Given the description of an element on the screen output the (x, y) to click on. 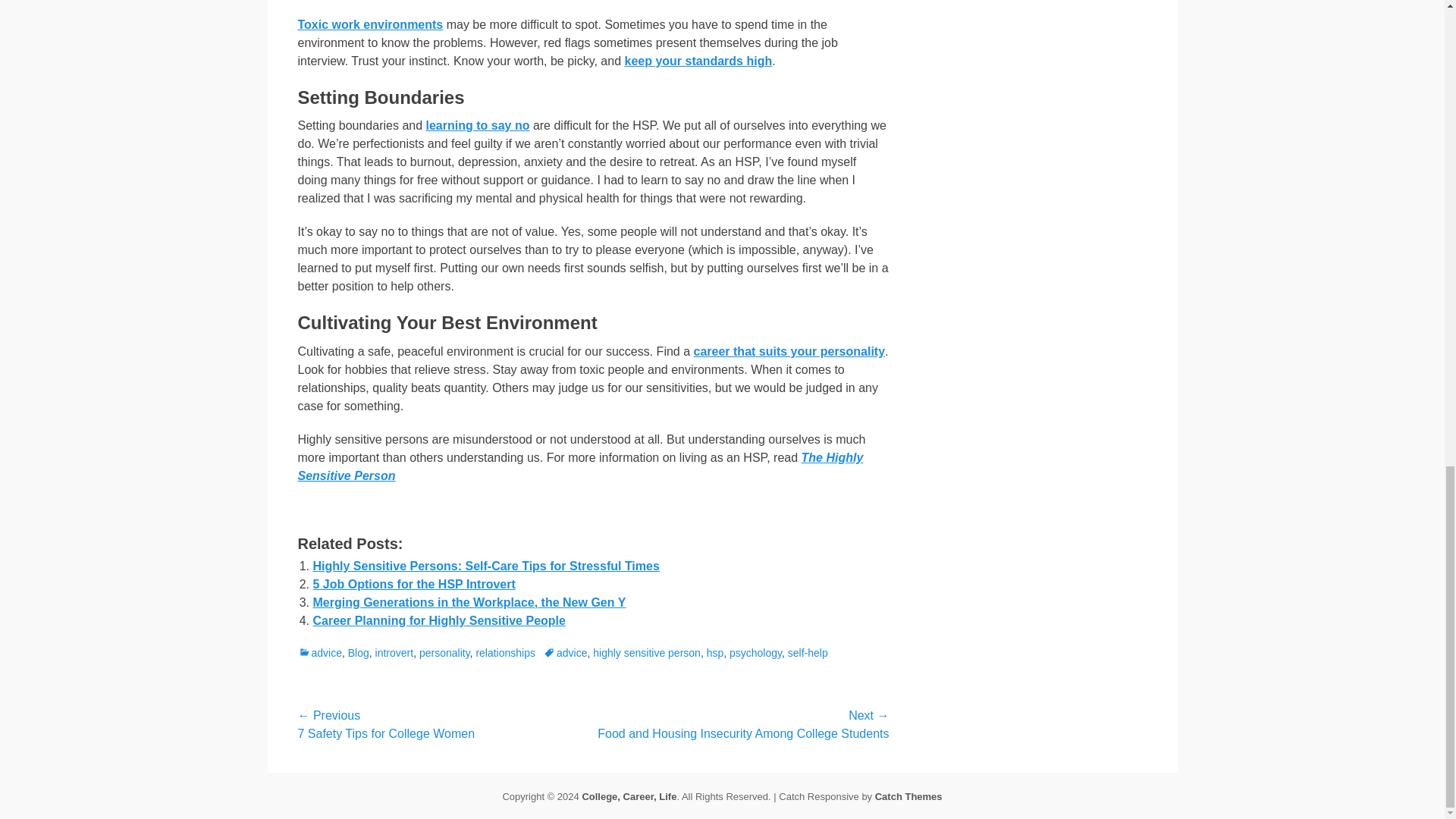
The Highly Sensitive Person (580, 466)
5 Job Options for the HSP Introvert (414, 584)
learning to say no (477, 124)
5 Job Options for the HSP Introvert (414, 584)
Highly Sensitive Persons: Self-Care Tips for Stressful Times (486, 565)
Toxic work environments (369, 24)
career that suits your personality (789, 350)
keep your standards high (698, 60)
Highly Sensitive Persons: Self-Care Tips for Stressful Times (486, 565)
